Given the description of an element on the screen output the (x, y) to click on. 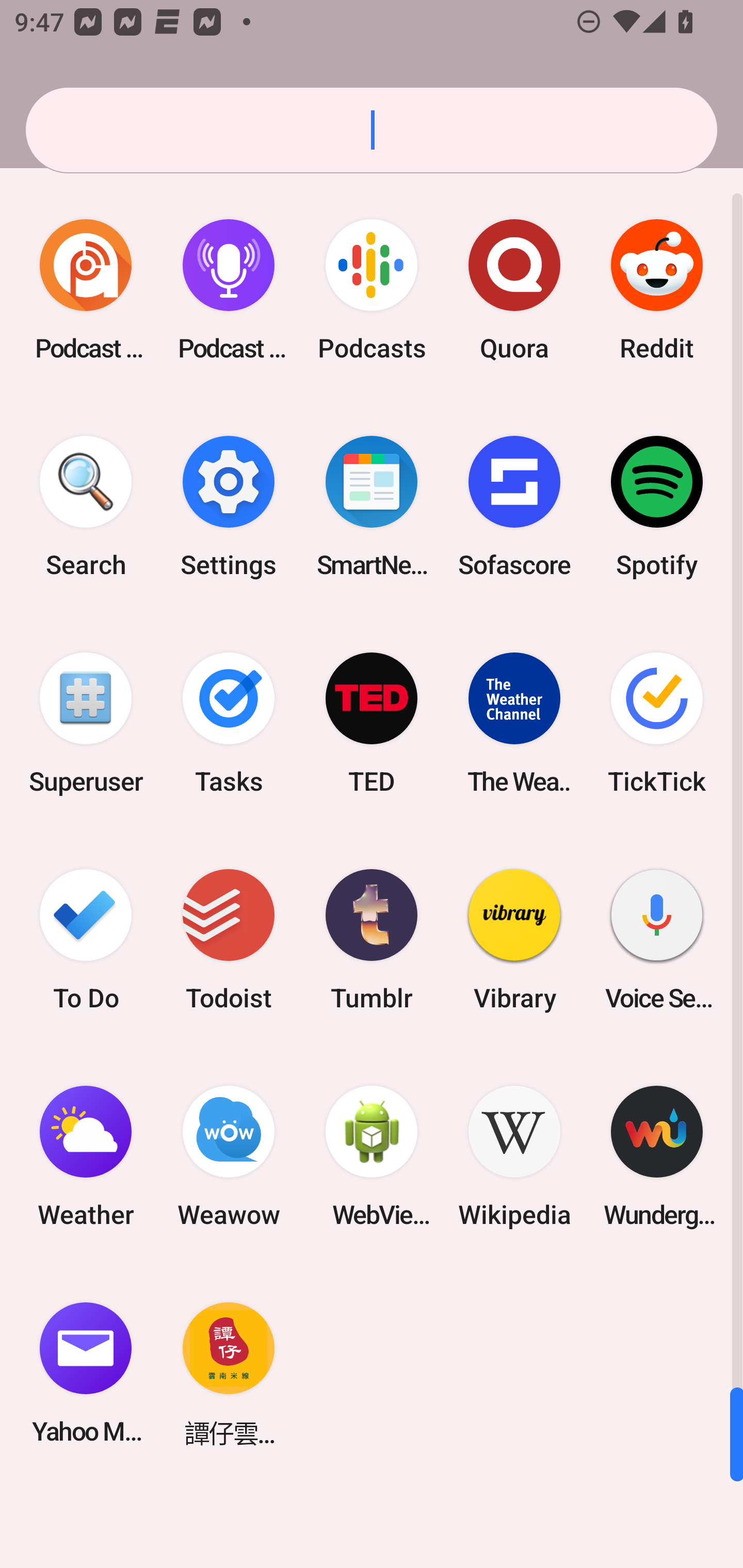
  Search apps (371, 130)
Podcast Addict (85, 289)
Podcast Player (228, 289)
Podcasts (371, 289)
Quora (514, 289)
Reddit (656, 289)
Search (85, 506)
Settings (228, 506)
SmartNews (371, 506)
Sofascore (514, 506)
Spotify (656, 506)
Superuser (85, 722)
Tasks (228, 722)
TED (371, 722)
The Weather Channel (514, 722)
TickTick (656, 722)
To Do (85, 939)
Todoist (228, 939)
Tumblr (371, 939)
Vibrary (514, 939)
Voice Search (656, 939)
Weather (85, 1156)
Weawow (228, 1156)
WebView Browser Tester (371, 1156)
Wikipedia (514, 1156)
Wunderground (656, 1156)
Yahoo Mail (85, 1373)
譚仔雲南米線 (228, 1373)
